Given the description of an element on the screen output the (x, y) to click on. 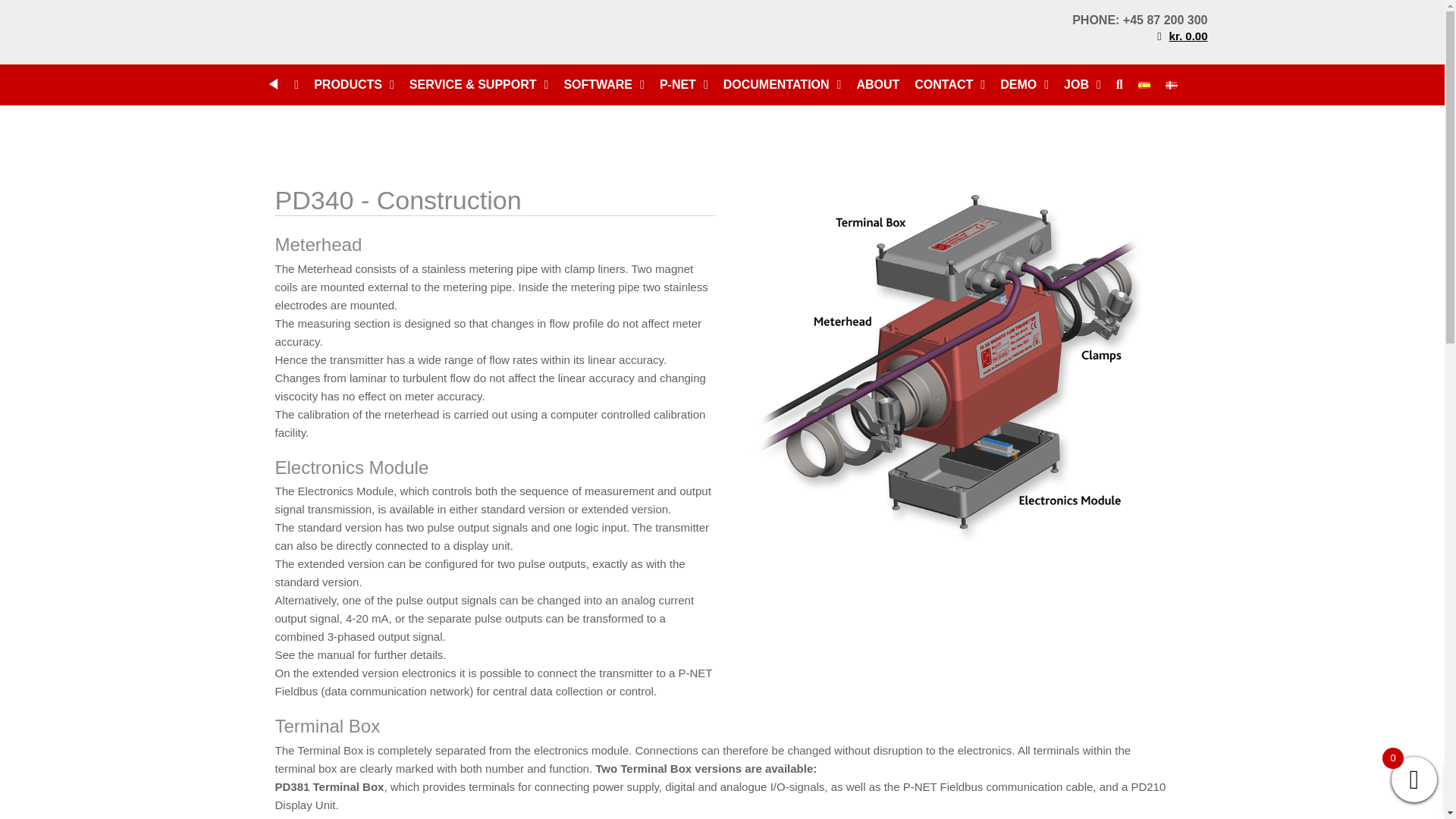
kr. 0.00 (1182, 36)
P-NET (684, 84)
PRODUCTS (353, 84)
SOFTWARE (604, 84)
View your shopping cart (1182, 36)
DOCUMENTATION (782, 84)
